Given the description of an element on the screen output the (x, y) to click on. 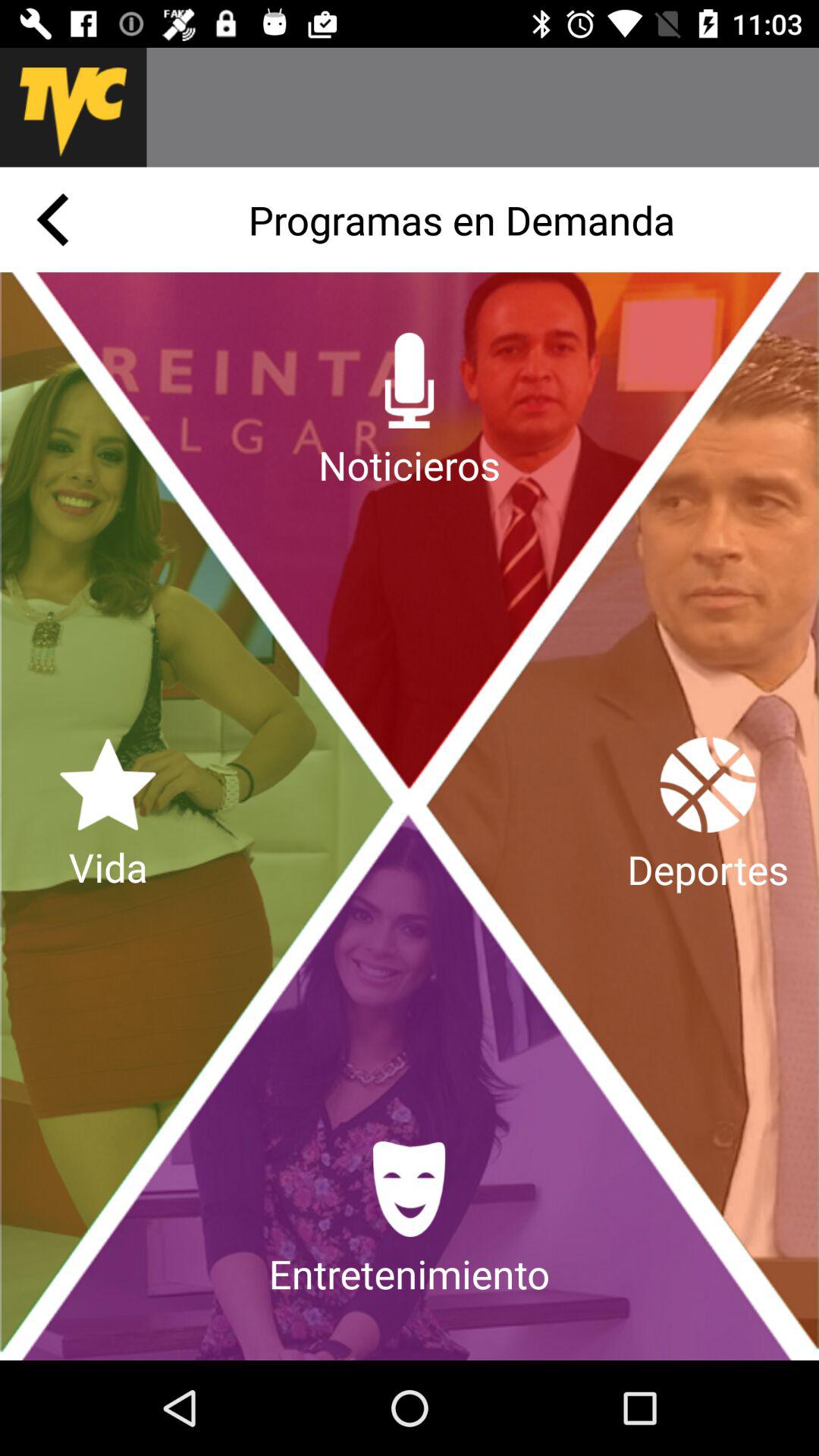
flip until the deportes (708, 815)
